Given the description of an element on the screen output the (x, y) to click on. 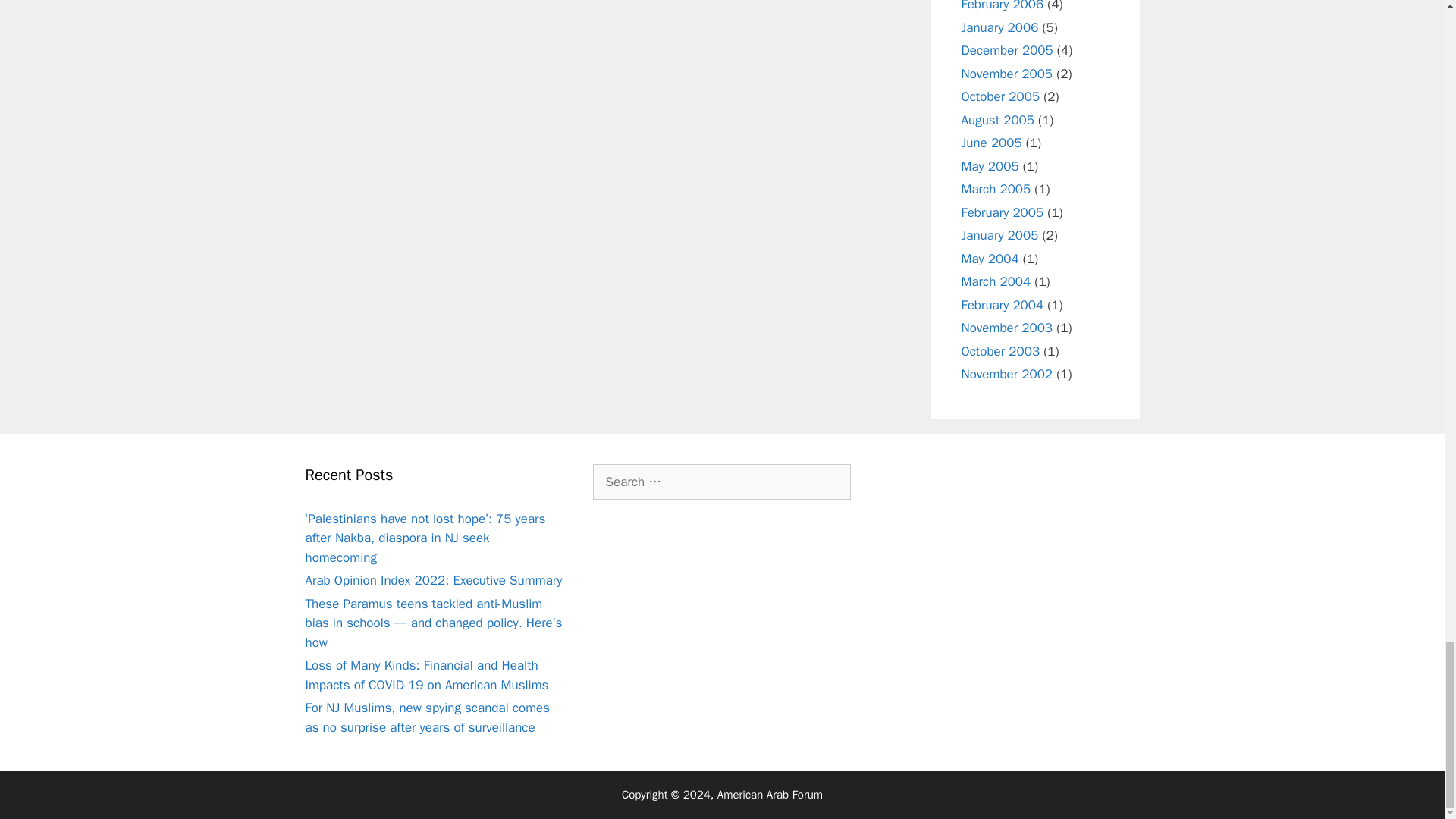
Search for: (721, 482)
